Given the description of an element on the screen output the (x, y) to click on. 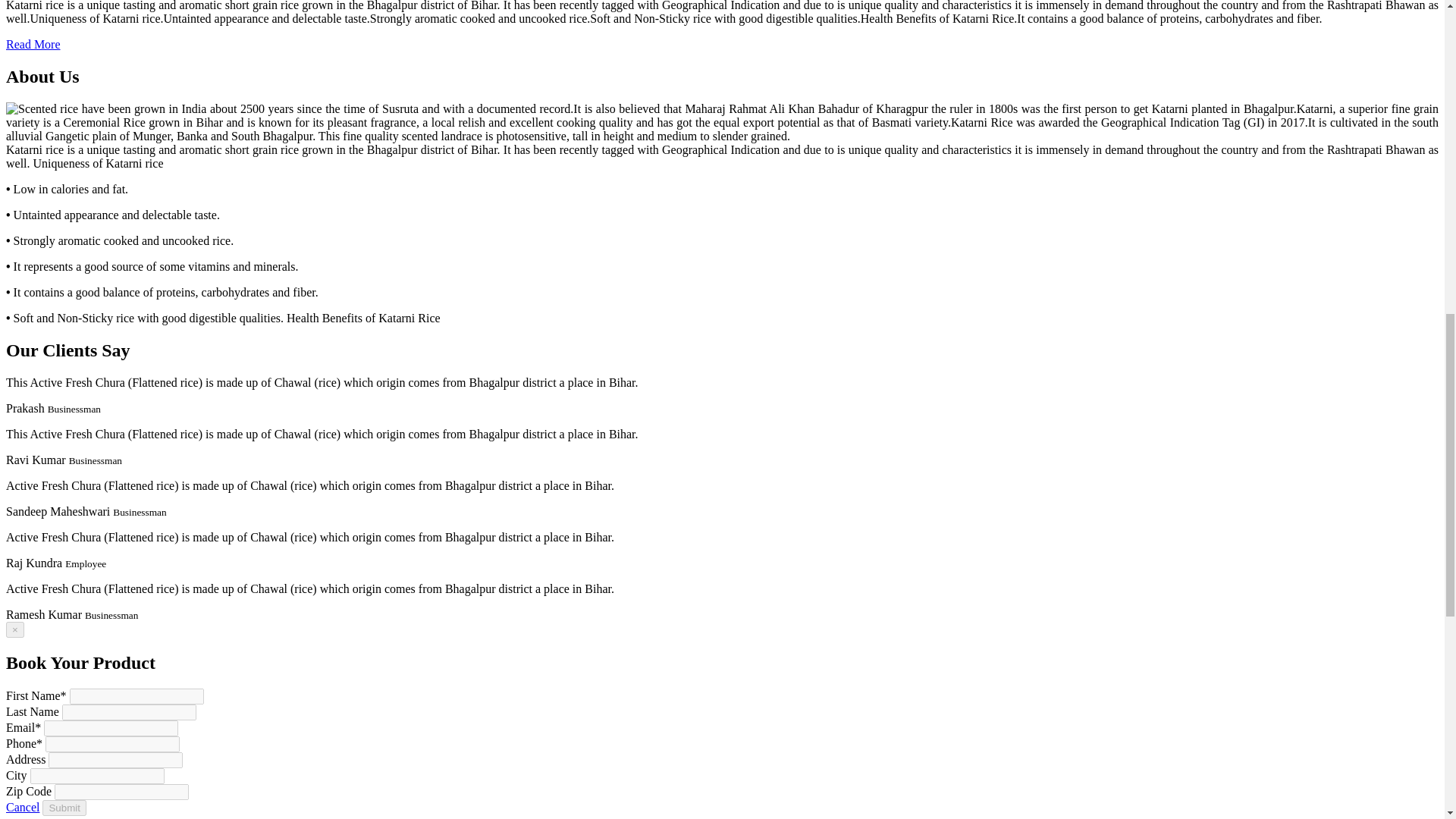
Cancel (22, 807)
Read More (33, 43)
Submit (63, 806)
Submit (63, 806)
